Given the description of an element on the screen output the (x, y) to click on. 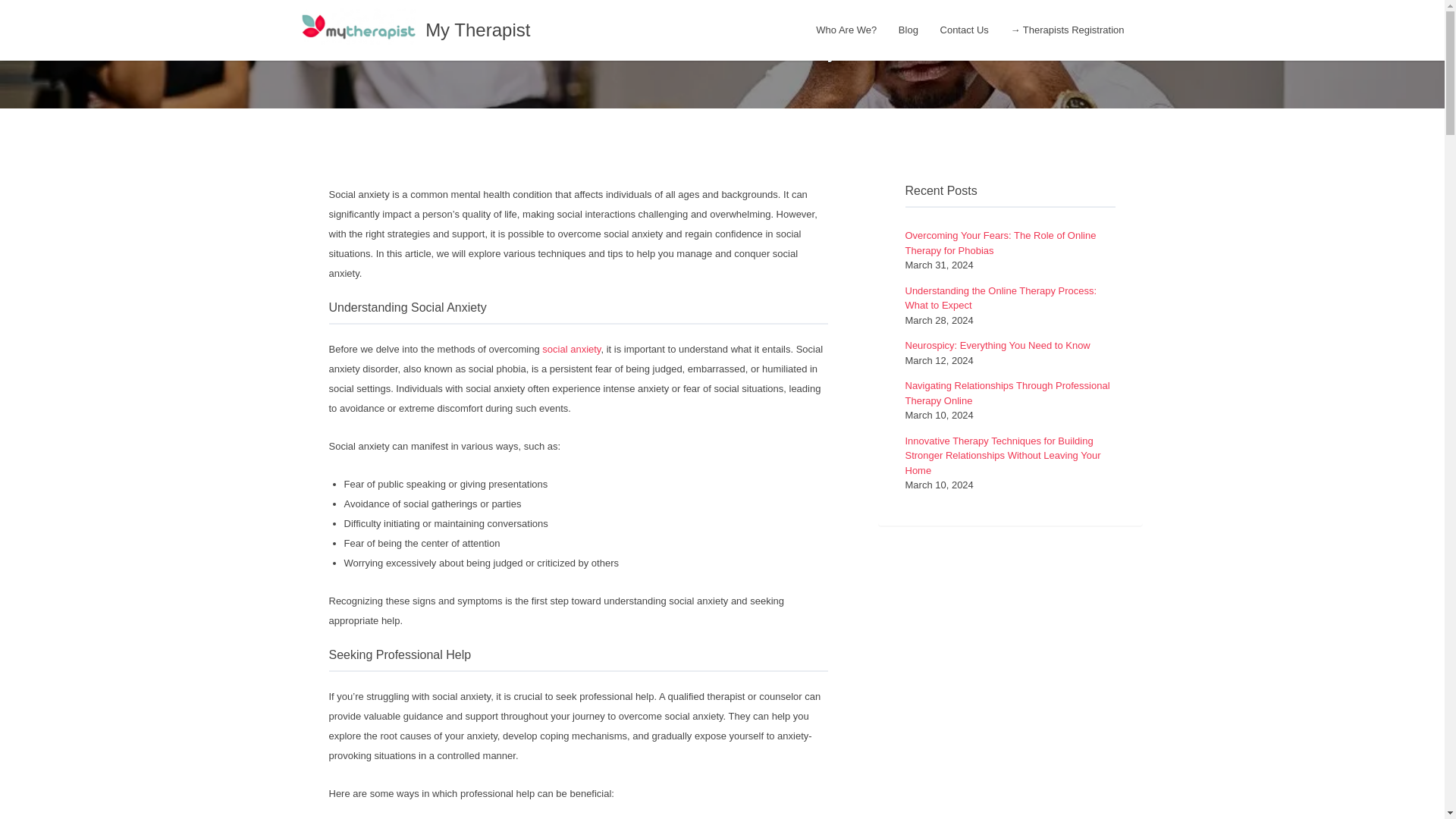
social anxiety (570, 348)
My Therapist (477, 29)
Who Are We? (845, 30)
Contact Us (964, 30)
Understanding the Online Therapy Process: What to Expect (1001, 298)
Neurospicy: Everything You Need to Know (997, 345)
Navigating Relationships Through Professional Therapy Online (1007, 393)
